Given the description of an element on the screen output the (x, y) to click on. 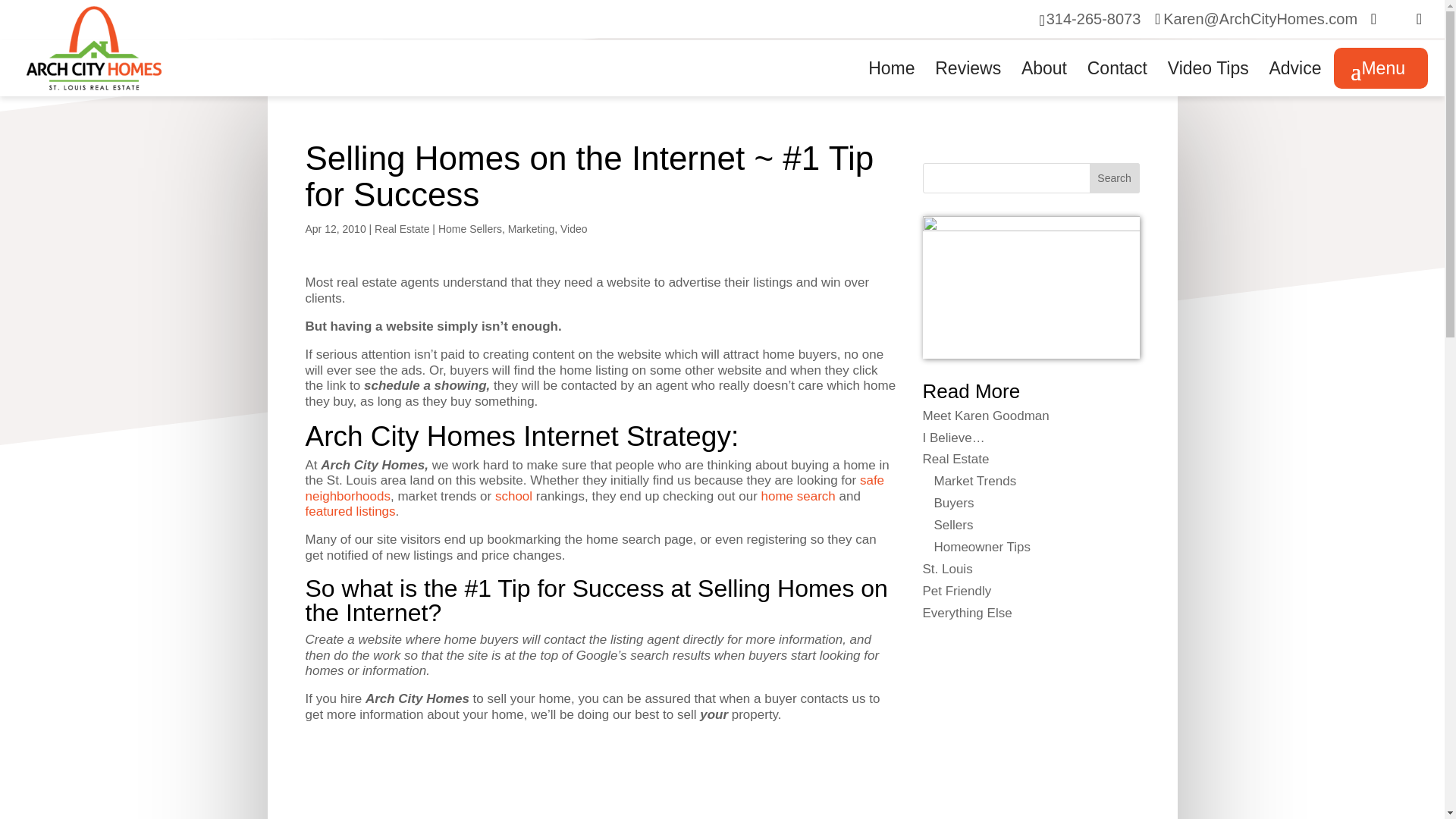
See all posts tagged "Schools" (513, 495)
About (1044, 79)
Search (1114, 177)
Home Sellers (470, 228)
Video Tips (1208, 79)
Real Estate (401, 228)
Menu (1380, 67)
Search St. Louis homes for sale (798, 495)
Video (574, 228)
314-265-8073 (1093, 18)
